Given the description of an element on the screen output the (x, y) to click on. 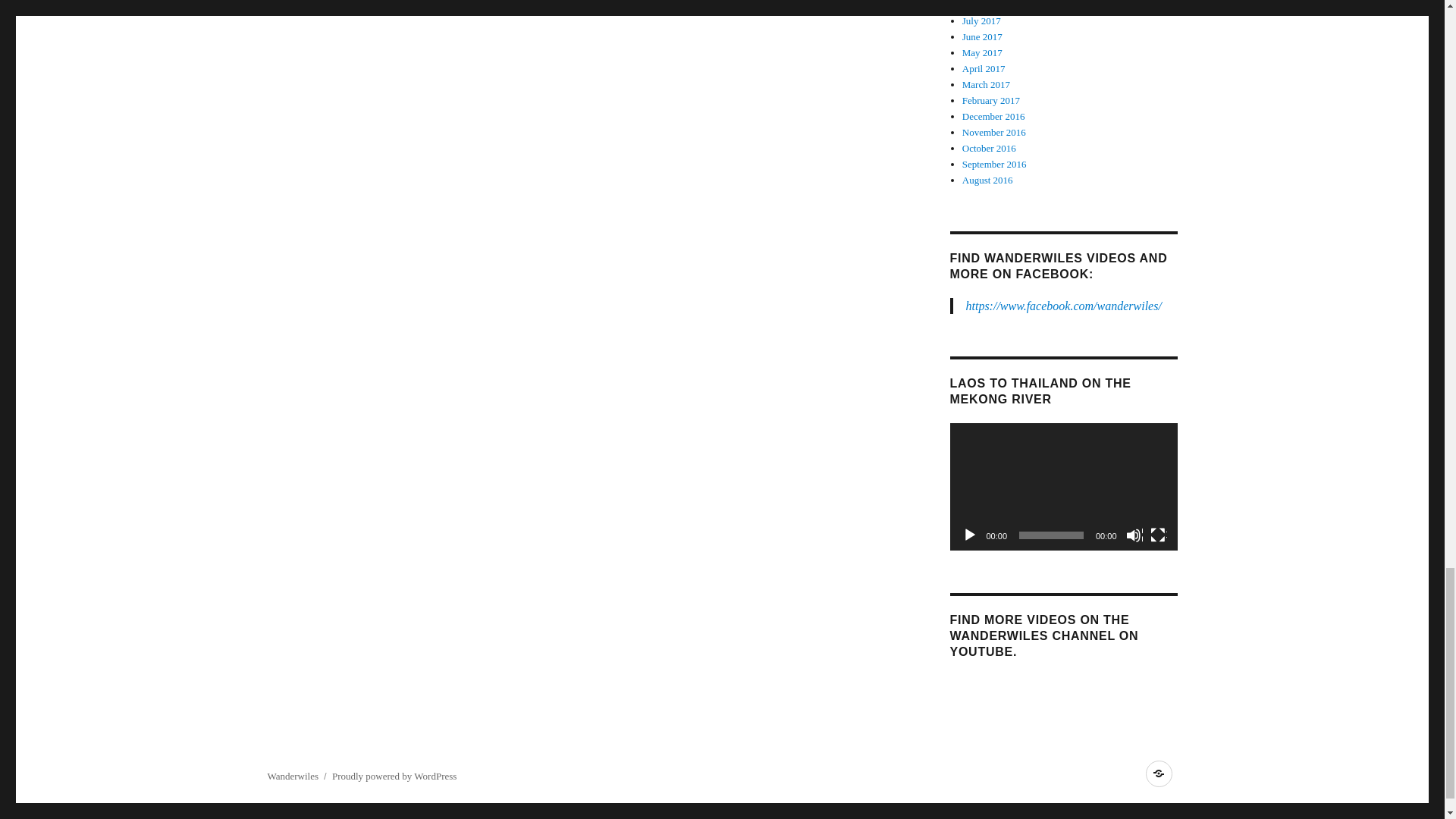
Fullscreen (1158, 535)
Play (969, 535)
Mute (1133, 535)
